Given the description of an element on the screen output the (x, y) to click on. 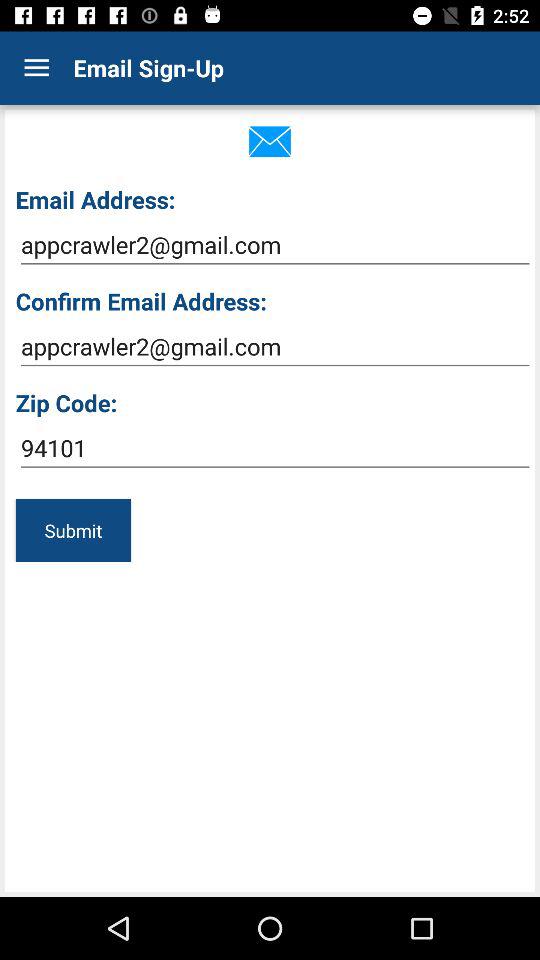
open the submit icon (73, 530)
